Given the description of an element on the screen output the (x, y) to click on. 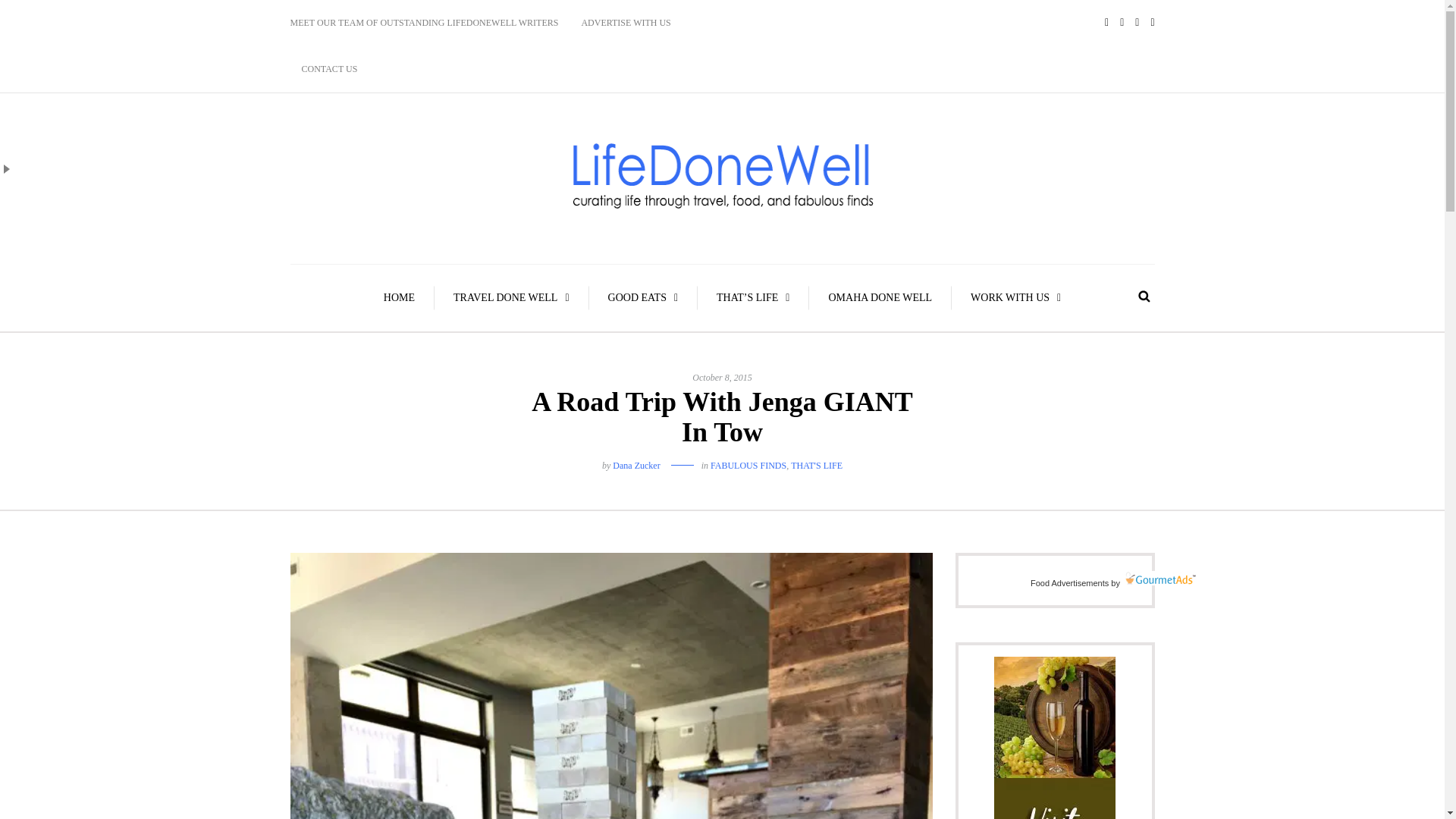
HOME (399, 297)
OMAHA DONE WELL (880, 297)
ADVERTISE WITH US (625, 22)
MEET OUR TEAM OF OUTSTANDING LIFEDONEWELL WRITERS (429, 22)
Dana Zucker (635, 465)
WORK WITH US (1016, 297)
Posts by Dana Zucker (635, 465)
CONTACT US (328, 68)
GOOD EATS (643, 297)
THAT'S LIFE (816, 465)
